Given the description of an element on the screen output the (x, y) to click on. 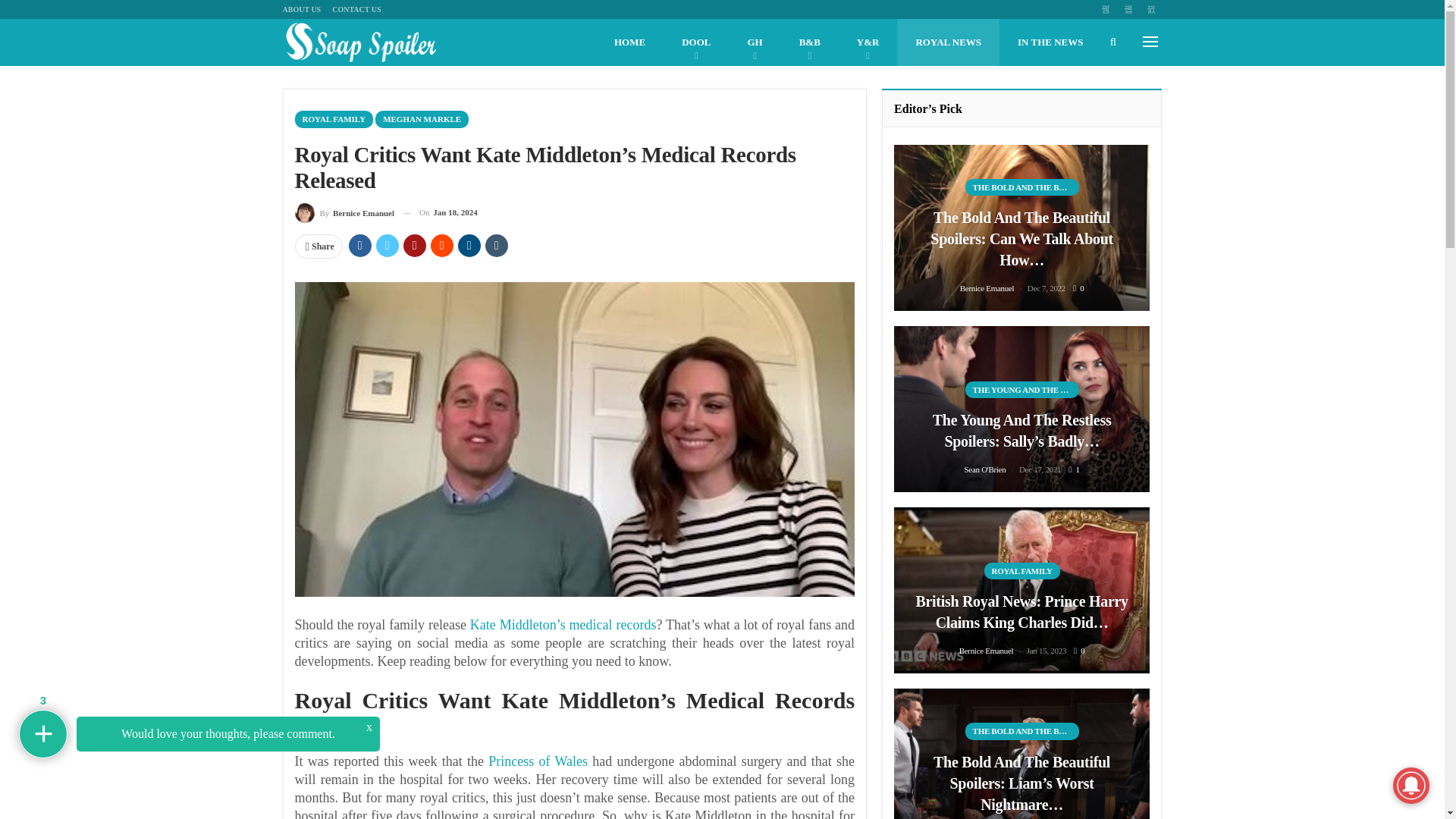
Browse Author Articles (344, 212)
GH (754, 42)
CONTACT US (355, 8)
ABOUT US (301, 8)
HOME (629, 42)
DOOL (696, 42)
